Given the description of an element on the screen output the (x, y) to click on. 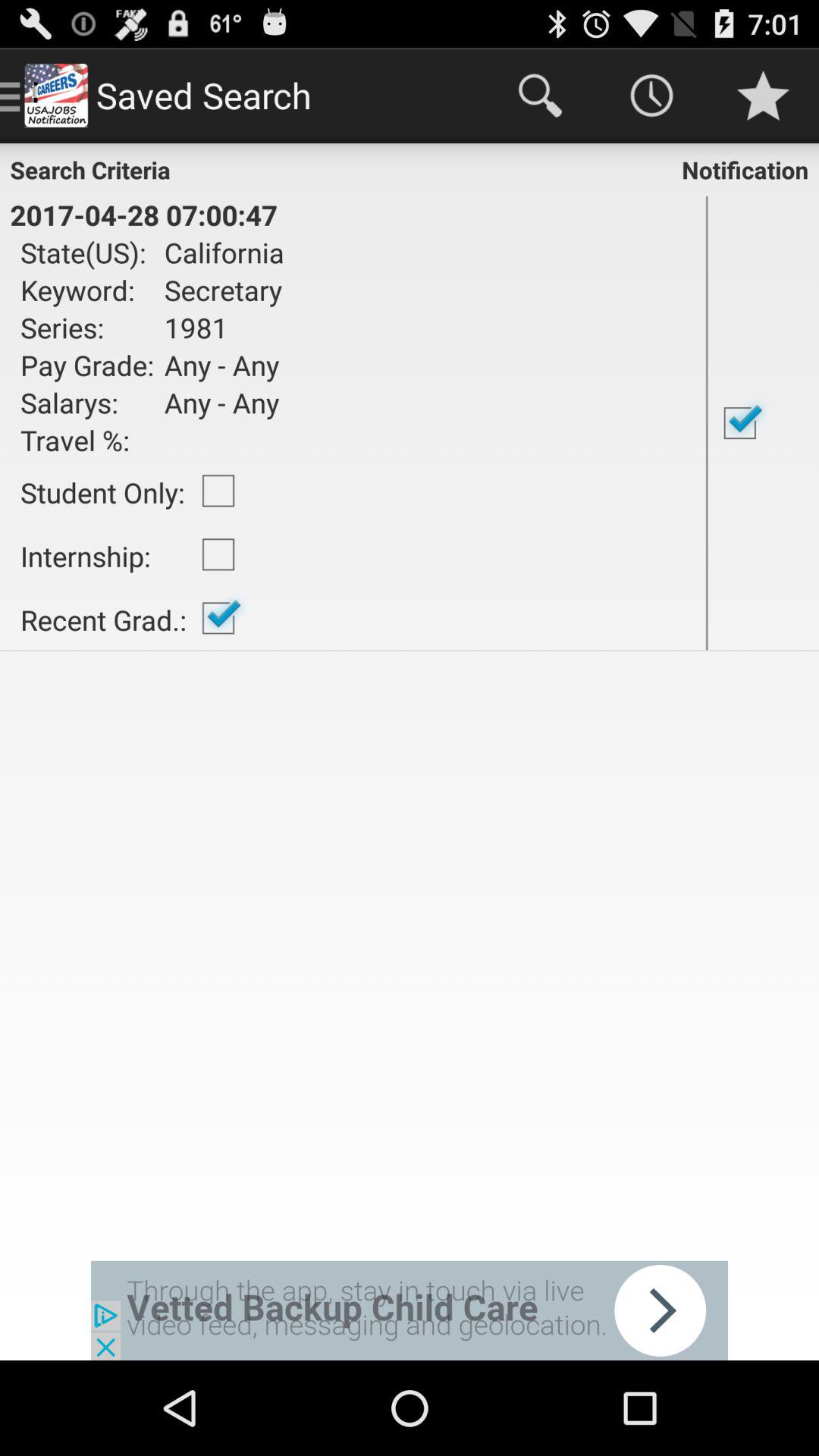
swipe to pay grade: item (87, 364)
